Given the description of an element on the screen output the (x, y) to click on. 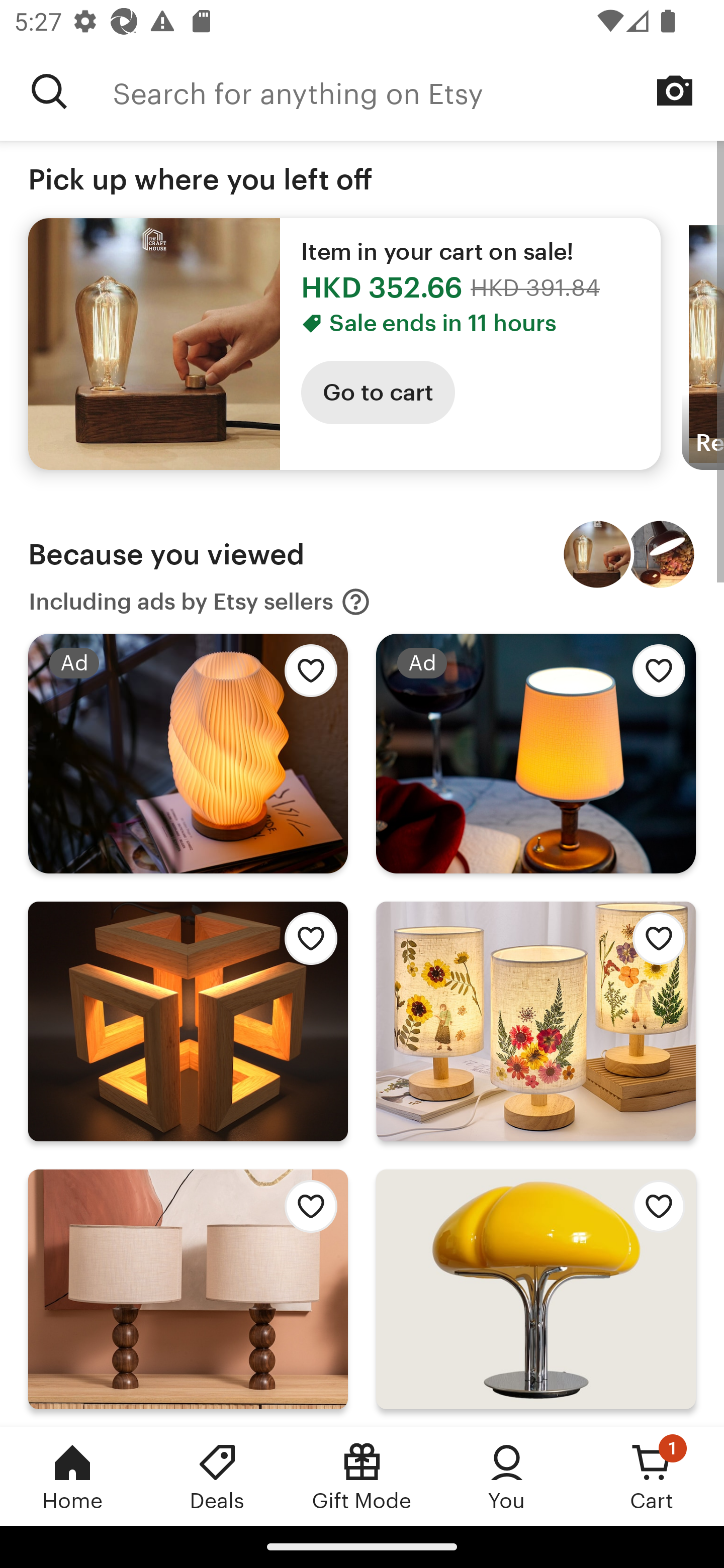
Search for anything on Etsy (49, 91)
Search by image (674, 90)
Search for anything on Etsy (418, 91)
Vintage desk lamp table lamp (660, 553)
Including ads by Etsy sellers (199, 601)
Deals (216, 1475)
Gift Mode (361, 1475)
You (506, 1475)
Cart, 1 new notification Cart (651, 1475)
